Given the description of an element on the screen output the (x, y) to click on. 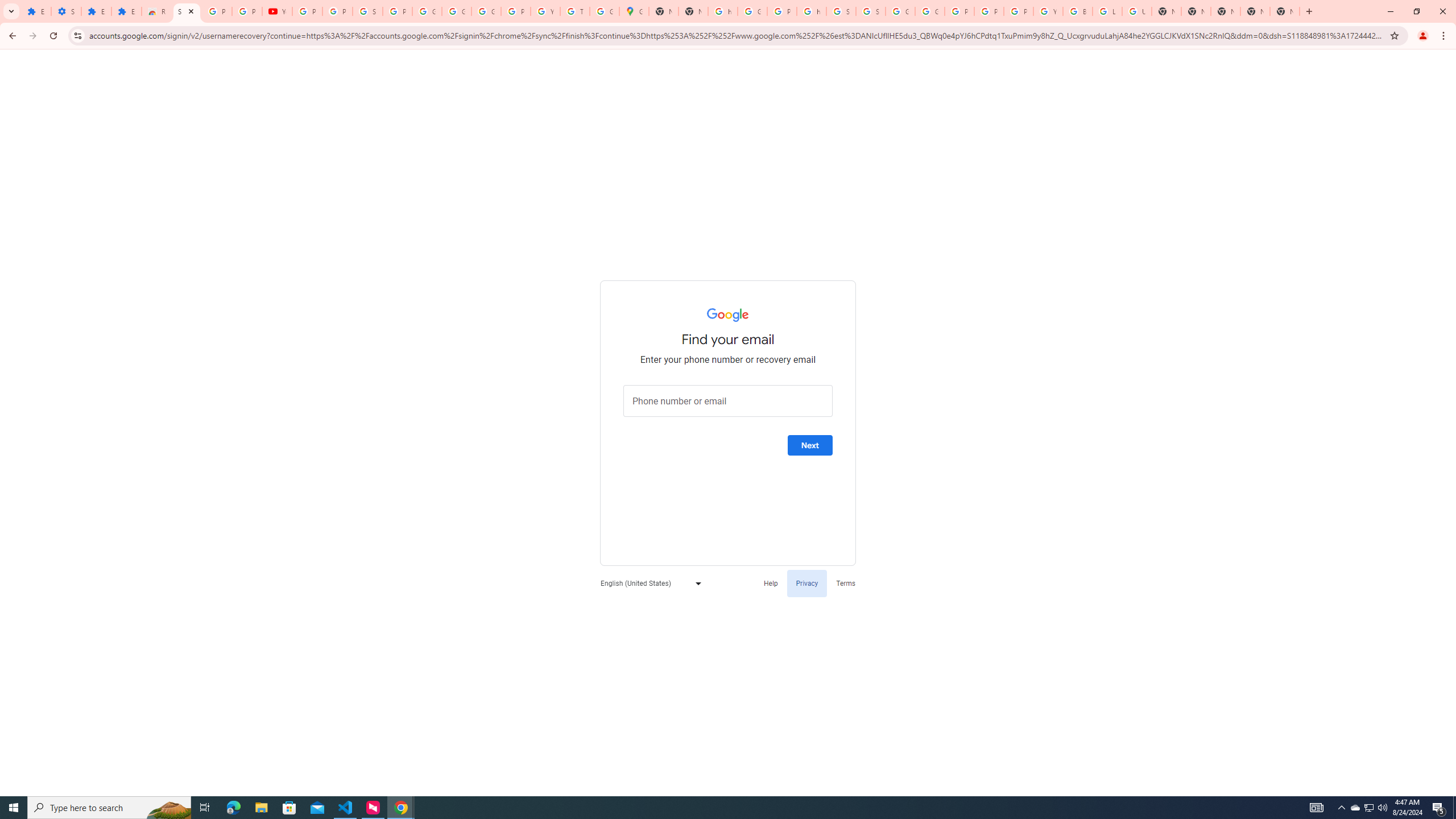
Extensions (36, 11)
Reviews: Helix Fruit Jump Arcade Game (156, 11)
Phone number or email (727, 400)
Next (809, 445)
Sign in - Google Accounts (185, 11)
